Given the description of an element on the screen output the (x, y) to click on. 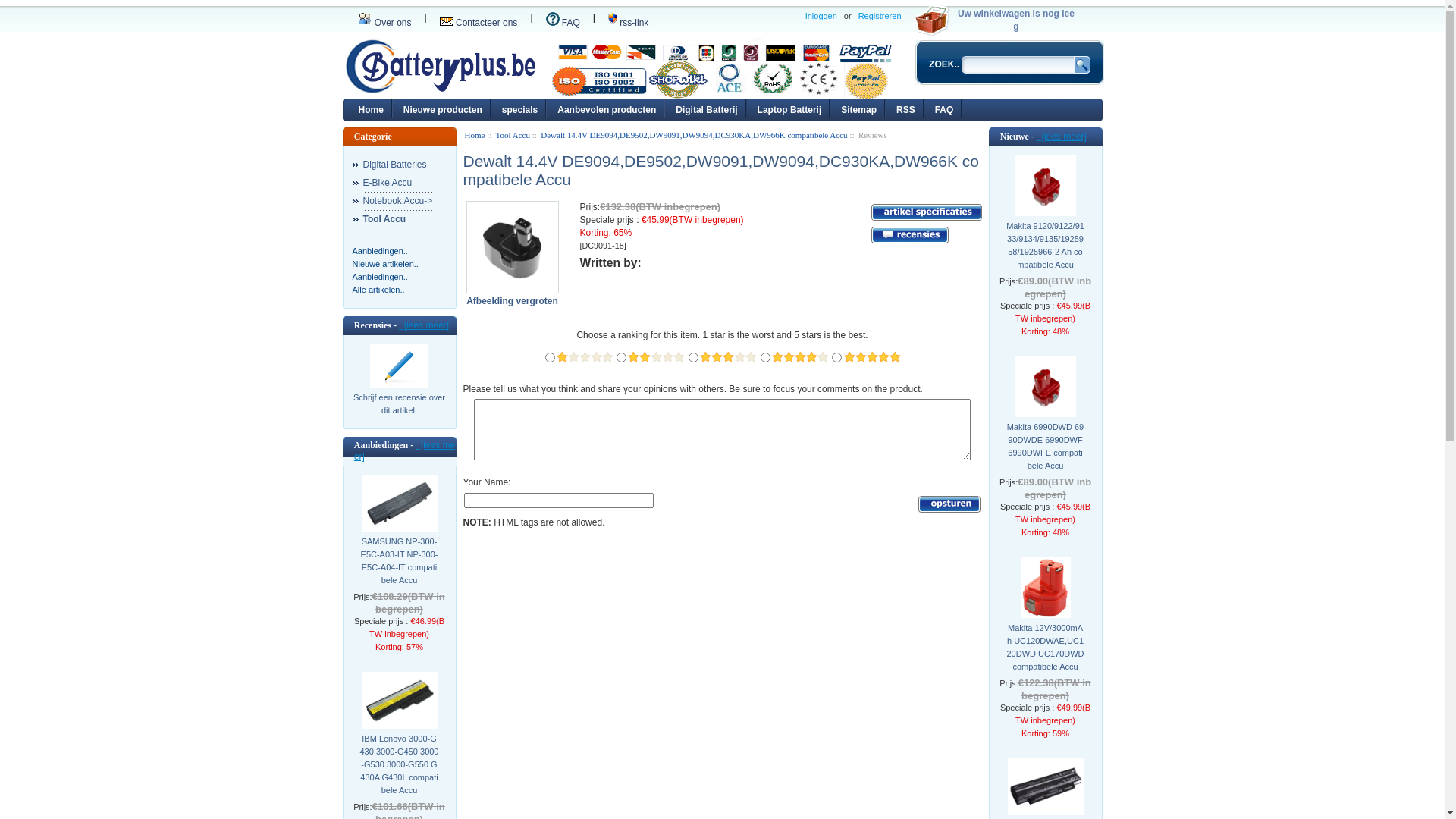
specials Element type: text (519, 108)
FAQ Element type: text (944, 108)
  [lees meer] Element type: text (1061, 136)
Aanbevolen producten Element type: text (606, 108)
Aanbiedingen... Element type: text (380, 250)
Registreren Element type: text (879, 16)
Digital Batteries Element type: text (398, 164)
rss-link Element type: text (628, 22)
Aanbiedingen.. Element type: text (379, 276)
E-Bike Accu Element type: text (398, 182)
FAQ Element type: text (563, 22)
Home Element type: text (370, 108)
Contacteer ons Element type: text (478, 22)
 Schrijf een recensie over dit artikel.  Element type: hover (399, 365)
 Go to the Reviews Page  Element type: hover (908, 234)
Schrijf een recensie over dit artikel. Element type: text (399, 409)
Nieuwe artikelen.. Element type: text (384, 263)
 Product Detail  Element type: hover (925, 211)
  [lees meer] Element type: text (423, 325)
SAMSUNG NP-300-E5C-A03-IT NP-300-E5C-A04-IT compatibele Accu Element type: text (398, 560)
Notebook Accu-> Element type: text (398, 200)
Afbeelding vergroten Element type: text (515, 295)
RSS Element type: text (905, 108)
 Submit the Information  Element type: hover (949, 503)
 batteryplus.be  Element type: hover (440, 65)
Makita 6990DWD 6990DWDE 6990DWF 6990DWFE compatibele Accu Element type: text (1044, 446)
 Makita 6990DWD 6990DWDE 6990DWF 6990DWFE compatibele Accu  Element type: hover (1044, 386)
 Twee sterren  Element type: hover (655, 356)
Sitemap Element type: text (858, 108)
Alle artikelen.. Element type: text (377, 289)
Over ons Element type: text (384, 22)
Nieuwe producten Element type: text (442, 108)
Digital Batterij Element type: text (706, 108)
Inloggen Element type: text (821, 16)
Tool Accu Element type: text (398, 218)
Home Element type: text (474, 134)
 Vijf sterren  Element type: hover (871, 356)
 Drie sterren  Element type: hover (727, 356)
 Vier sterren  Element type: hover (799, 356)
  [lees meer] Element type: text (404, 450)
Tool Accu Element type: text (512, 134)
Laptop Batterij Element type: text (789, 108)
